Given the description of an element on the screen output the (x, y) to click on. 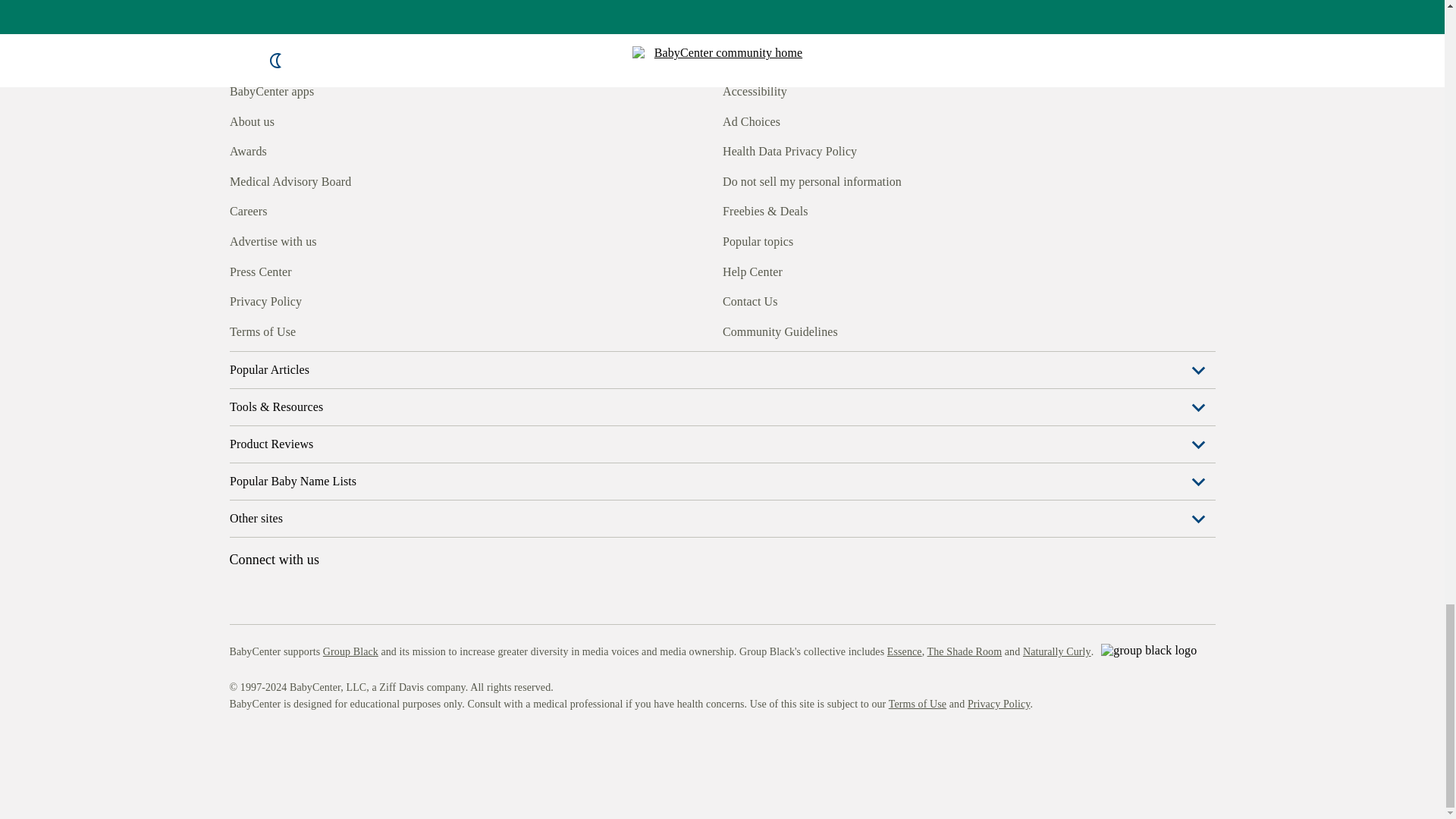
BabyCenter Twitter feed (379, 329)
BabyCenter Instagram feed (274, 329)
BabyCenter Pinterest board (309, 329)
BabyCenter Facebook page (239, 329)
BabyCenter YouTube channel (344, 329)
